Given the description of an element on the screen output the (x, y) to click on. 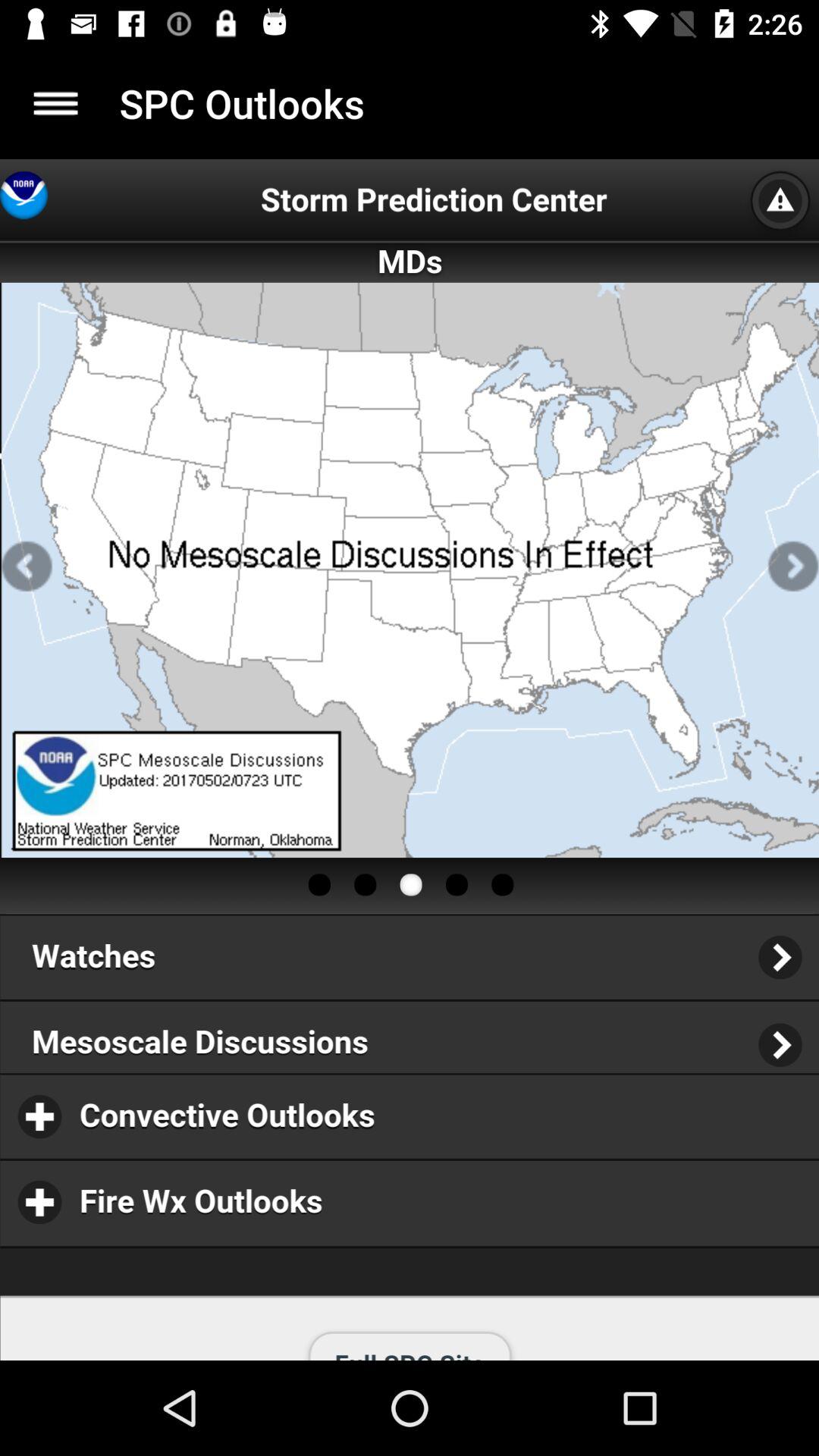
go to menu (55, 103)
